Given the description of an element on the screen output the (x, y) to click on. 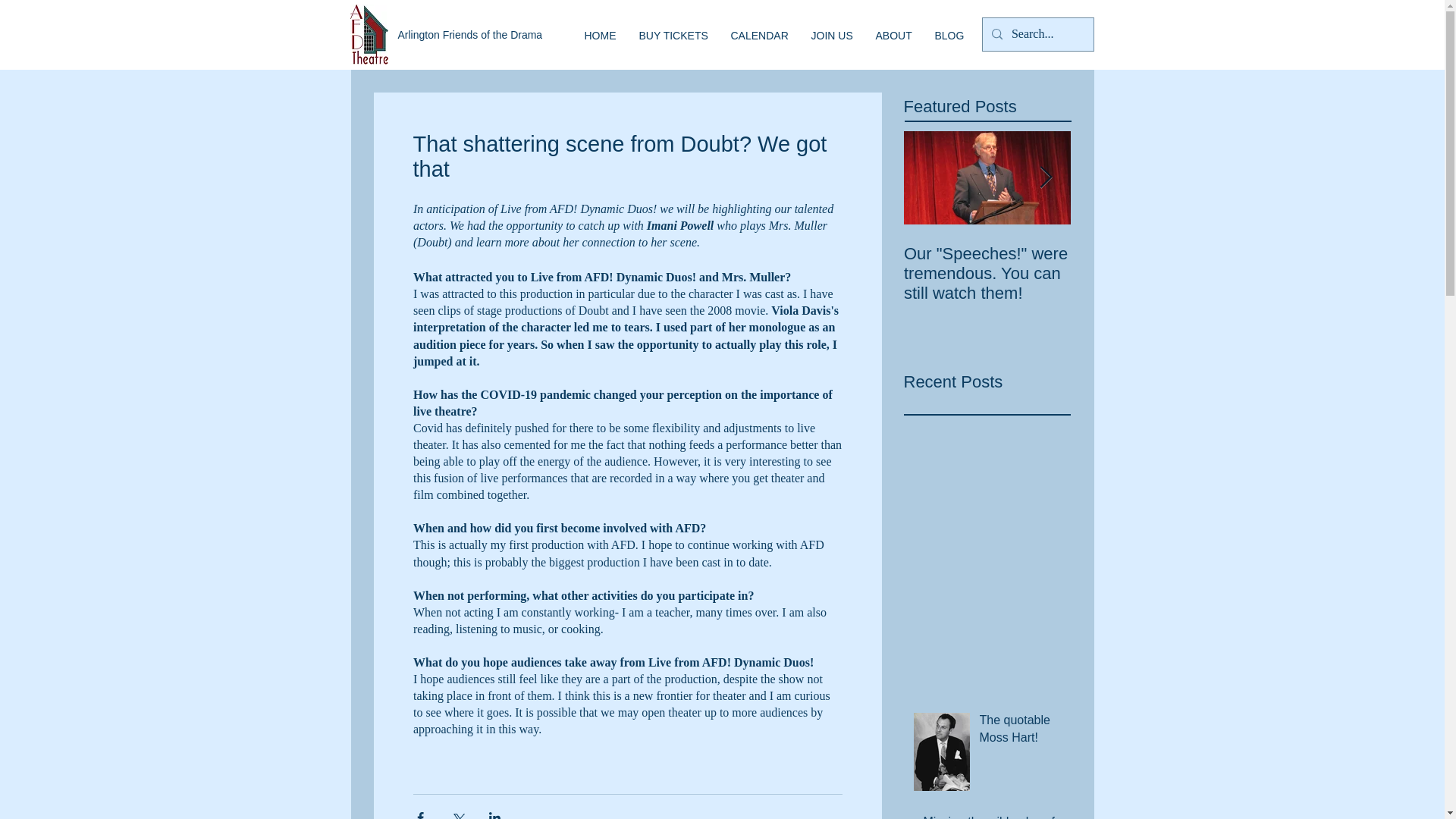
Our "Speeches!" were tremendous. You can still watch them! (987, 273)
You've found it! (1153, 253)
BLOG (949, 35)
Arlington Friends of the Drama (469, 34)
JOIN US (831, 35)
BUY TICKETS (673, 35)
ABOUT (893, 35)
HOME (600, 35)
CALENDAR (759, 35)
